Given the description of an element on the screen output the (x, y) to click on. 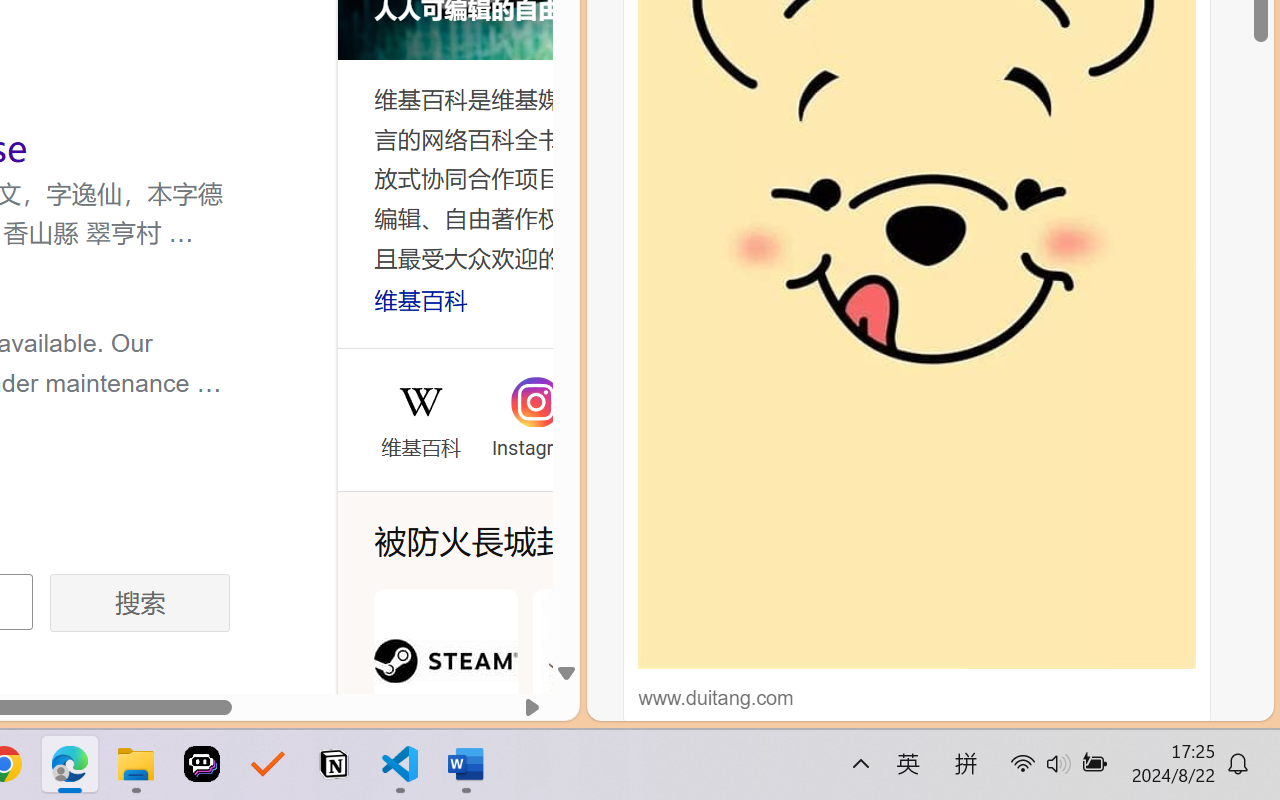
Steam (445, 684)
AutomationID: mfa_root (429, 564)
Steam (445, 684)
Wikipedia (419, 402)
Instagram (534, 444)
